Given the description of an element on the screen output the (x, y) to click on. 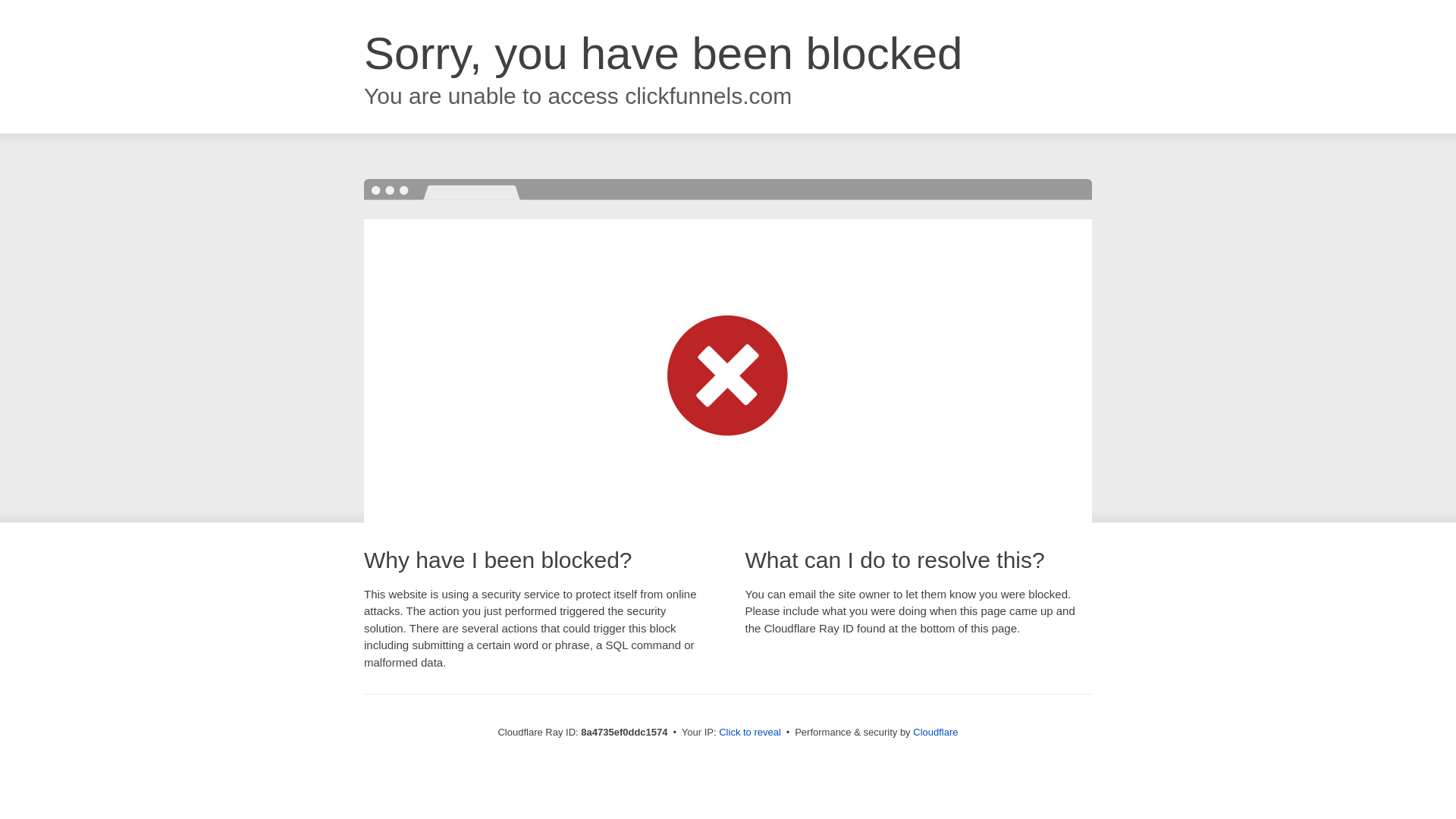
Click to reveal (749, 732)
Cloudflare (935, 731)
